Given the description of an element on the screen output the (x, y) to click on. 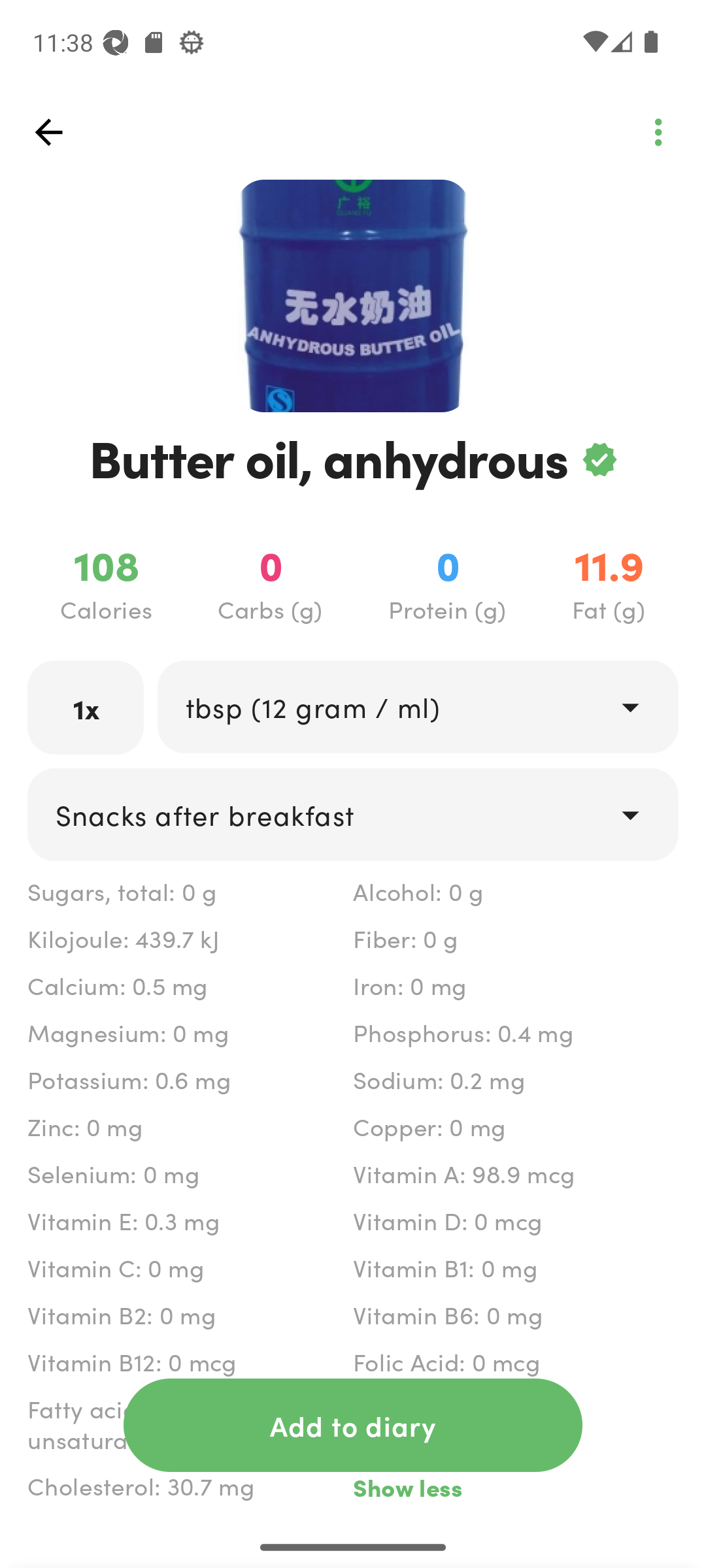
top_left_action (48, 132)
top_left_action (658, 132)
1x labeled_edit_text (85, 707)
drop_down tbsp (12 gram / ml) (417, 706)
drop_down Snacks after breakfast (352, 814)
action_button Add to diary (352, 1425)
Show less (515, 1486)
